Given the description of an element on the screen output the (x, y) to click on. 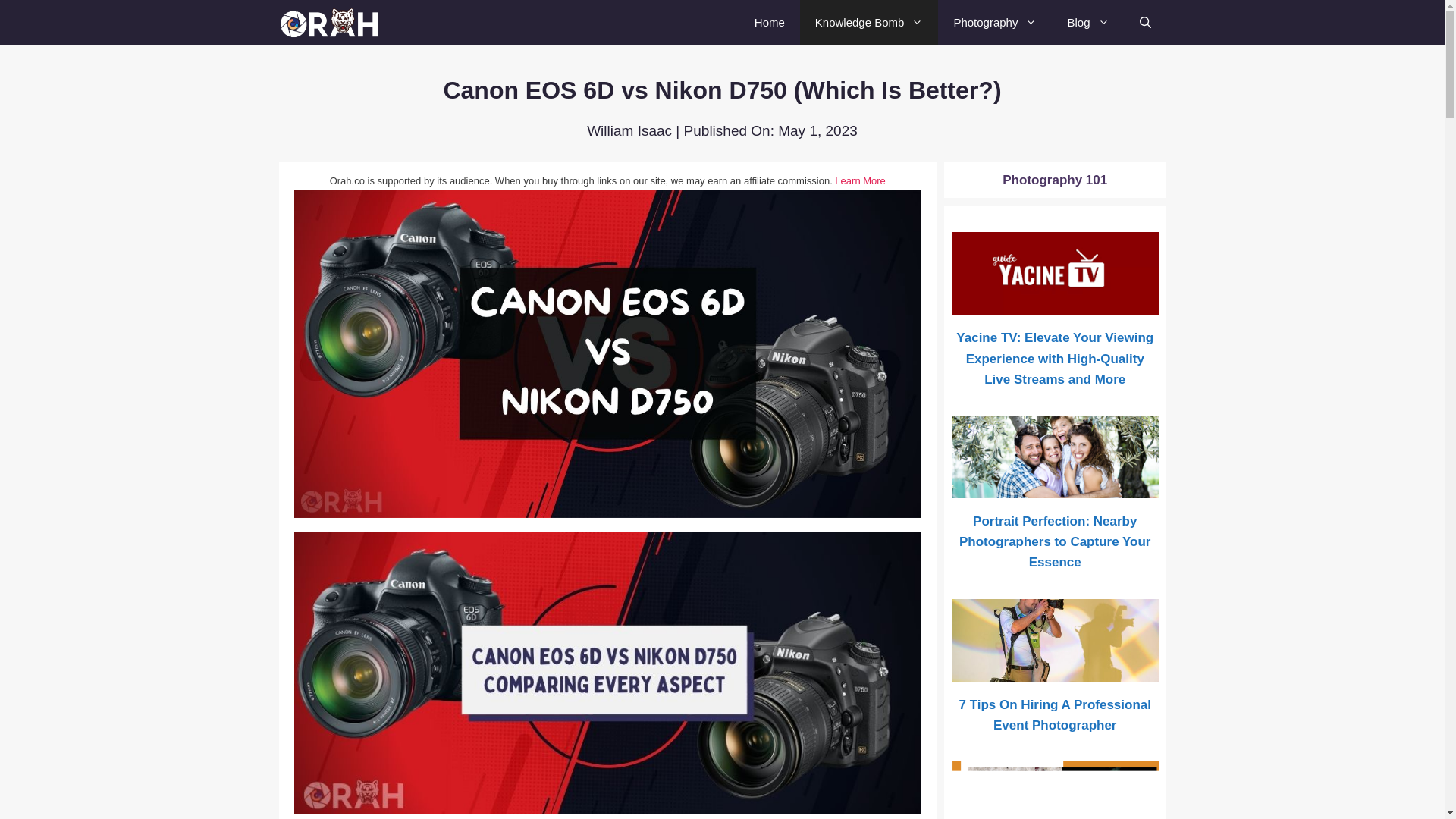
Orah (331, 22)
View all posts by William Isaac (628, 130)
Knowledge Bomb (869, 22)
Orah (335, 22)
Home (769, 22)
7 Tips On Hiring A Professional Event Photographer (1055, 670)
